Given the description of an element on the screen output the (x, y) to click on. 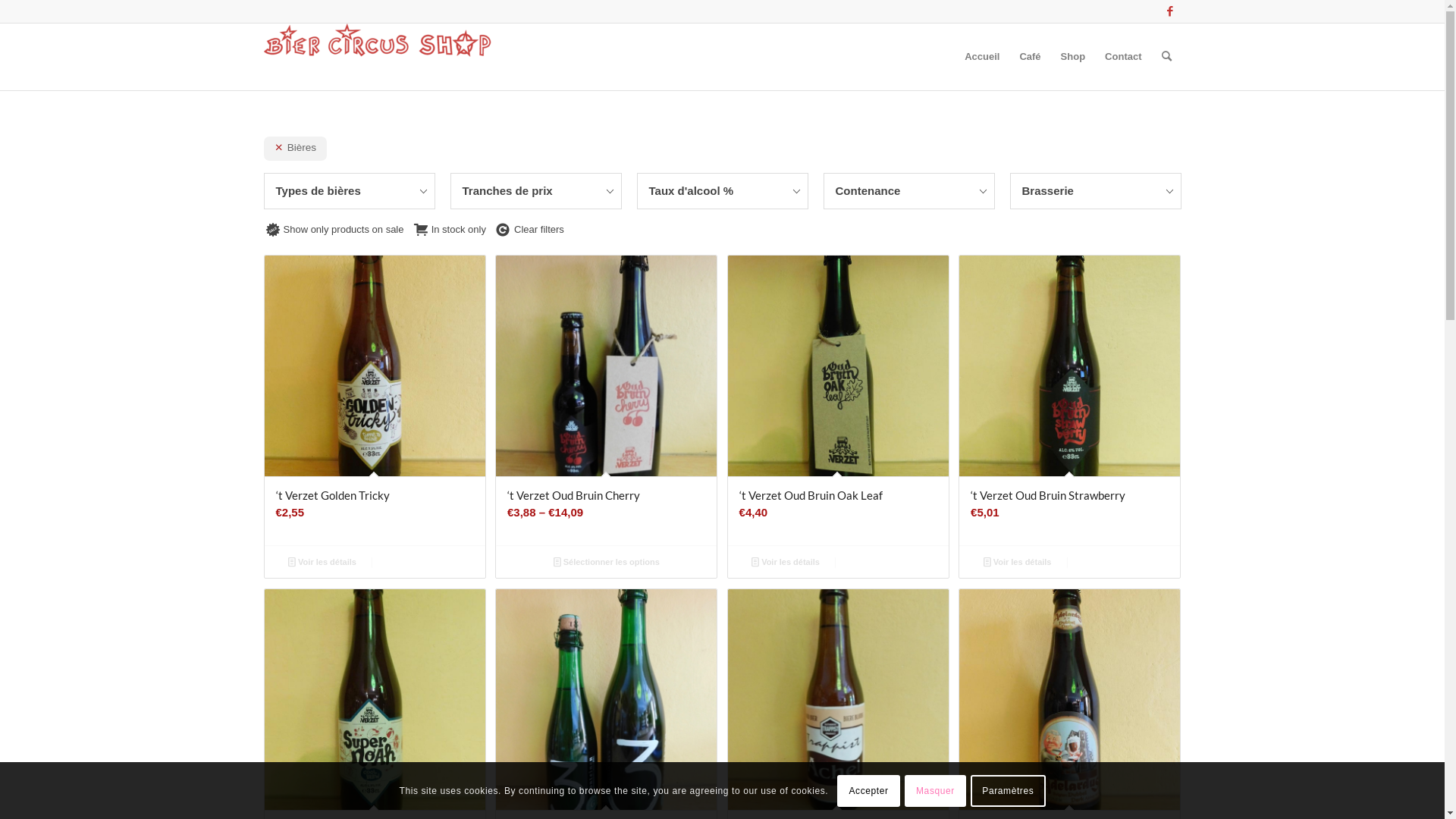
Accepter Element type: text (868, 790)
Contact Element type: text (1123, 56)
Facebook Element type: hover (1169, 11)
Shop Element type: text (1073, 56)
Accueil Element type: text (981, 56)
Masquer Element type: text (935, 790)
